Given the description of an element on the screen output the (x, y) to click on. 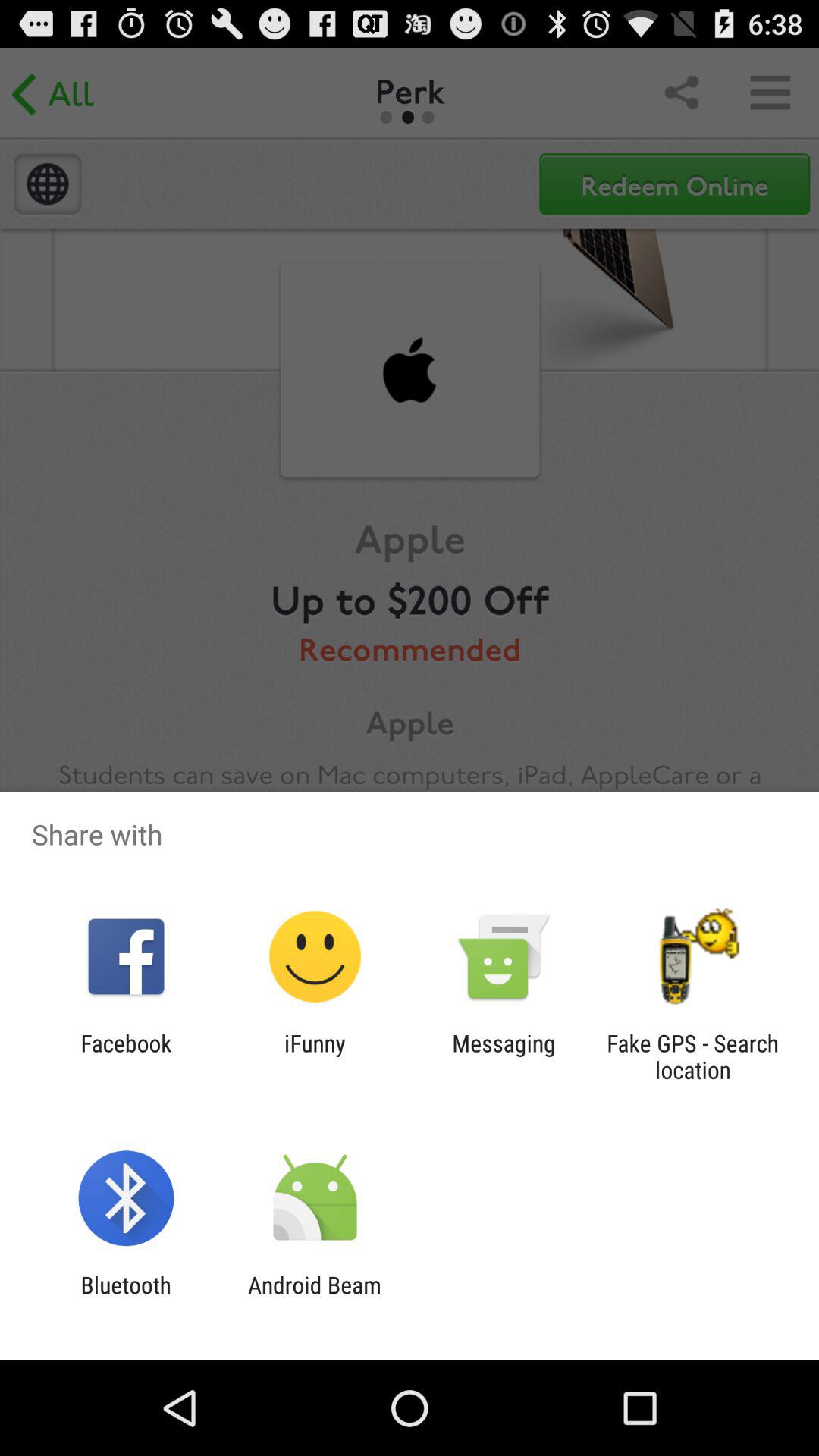
jump until the messaging (503, 1056)
